Given the description of an element on the screen output the (x, y) to click on. 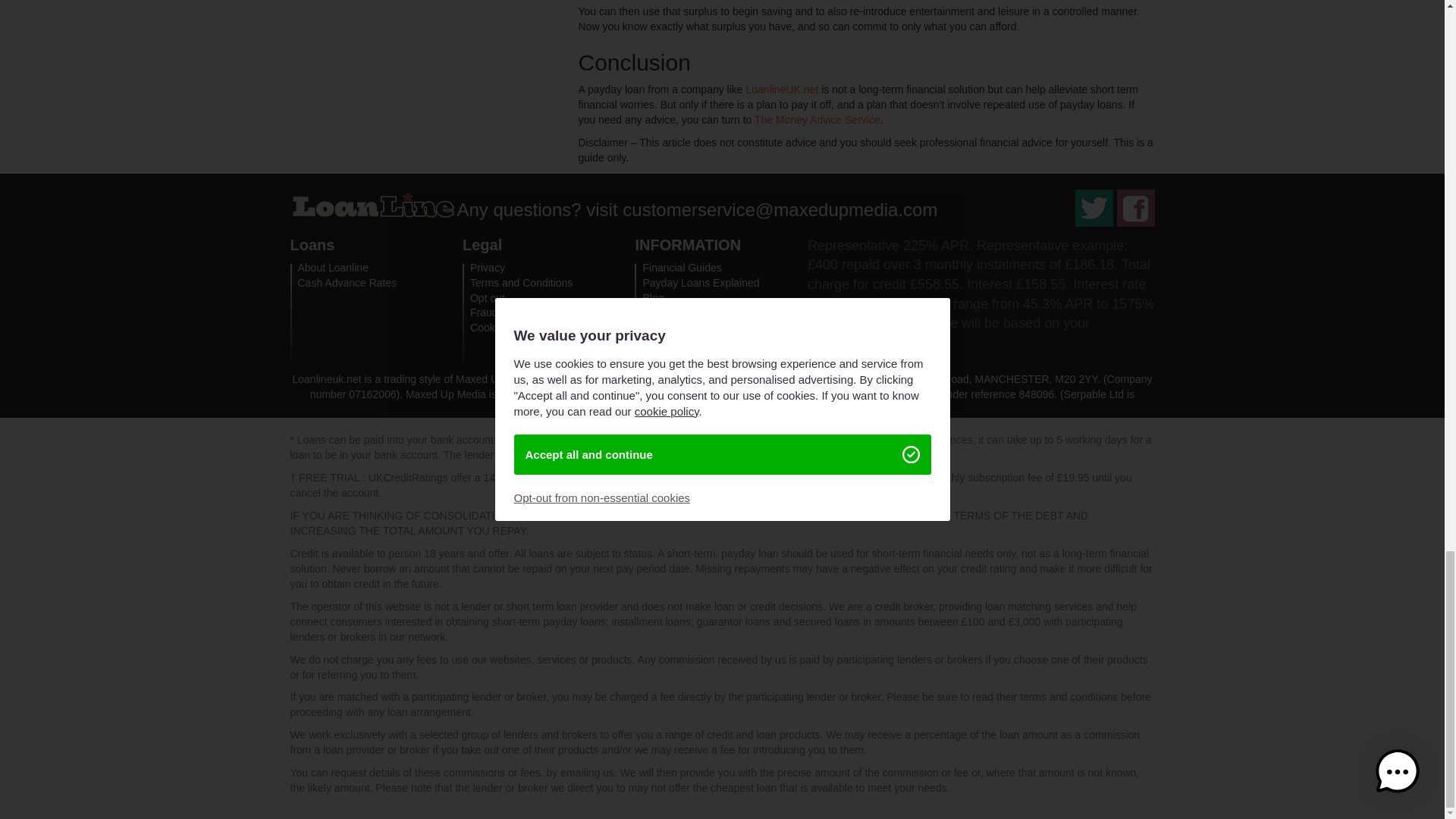
Cash Advance Rates (346, 282)
About Loanline (332, 267)
The Money Advice Service (817, 119)
LoanlineUK.net (781, 89)
